Given the description of an element on the screen output the (x, y) to click on. 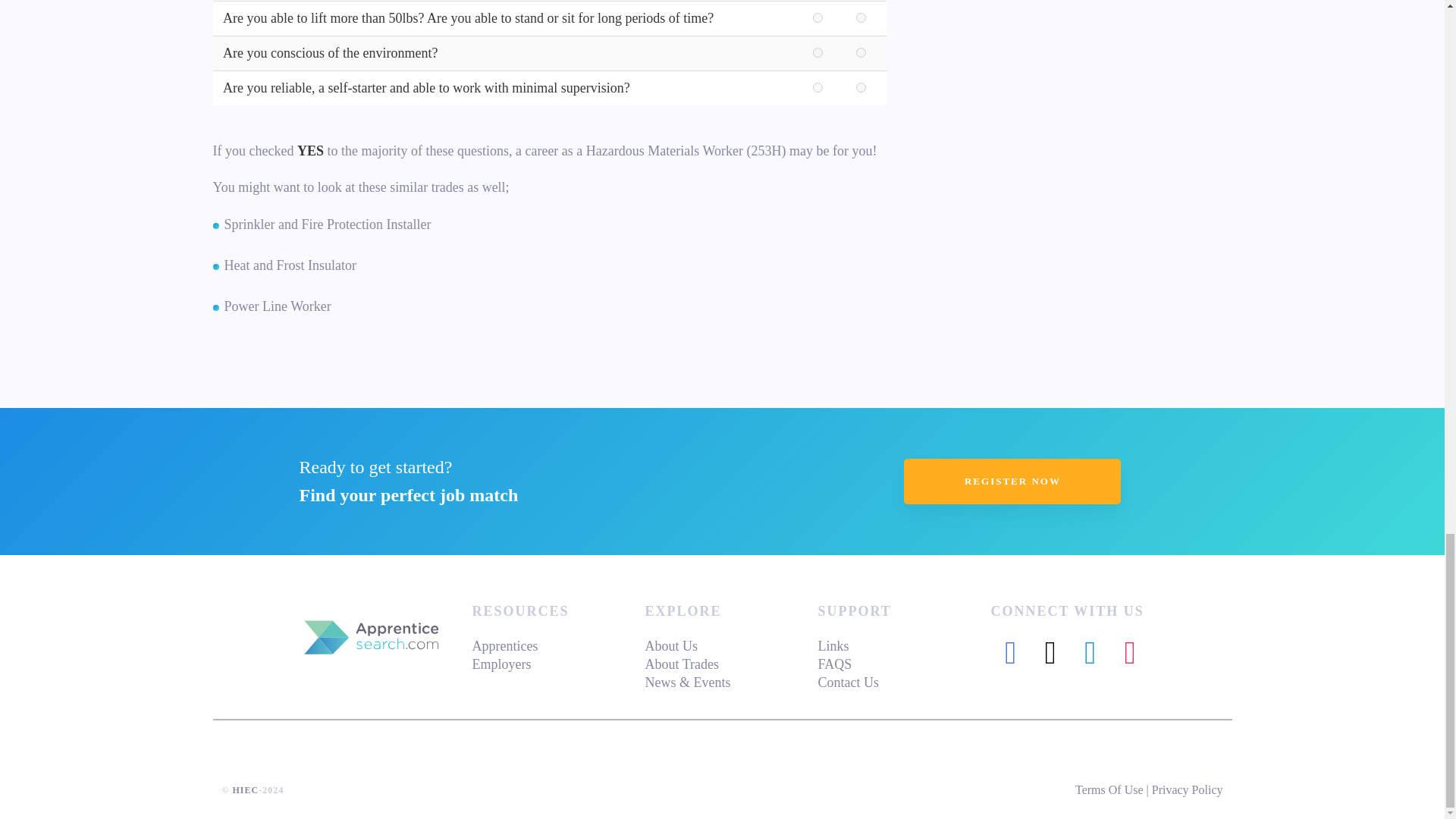
on (817, 52)
on (817, 17)
About Trades (682, 663)
on (861, 17)
Employers (501, 663)
Apprentices (504, 645)
Contact Us (847, 682)
on (817, 87)
REGISTER NOW (1012, 481)
About Us (671, 645)
Links (832, 645)
on (861, 52)
FAQS (833, 663)
on (861, 87)
